Given the description of an element on the screen output the (x, y) to click on. 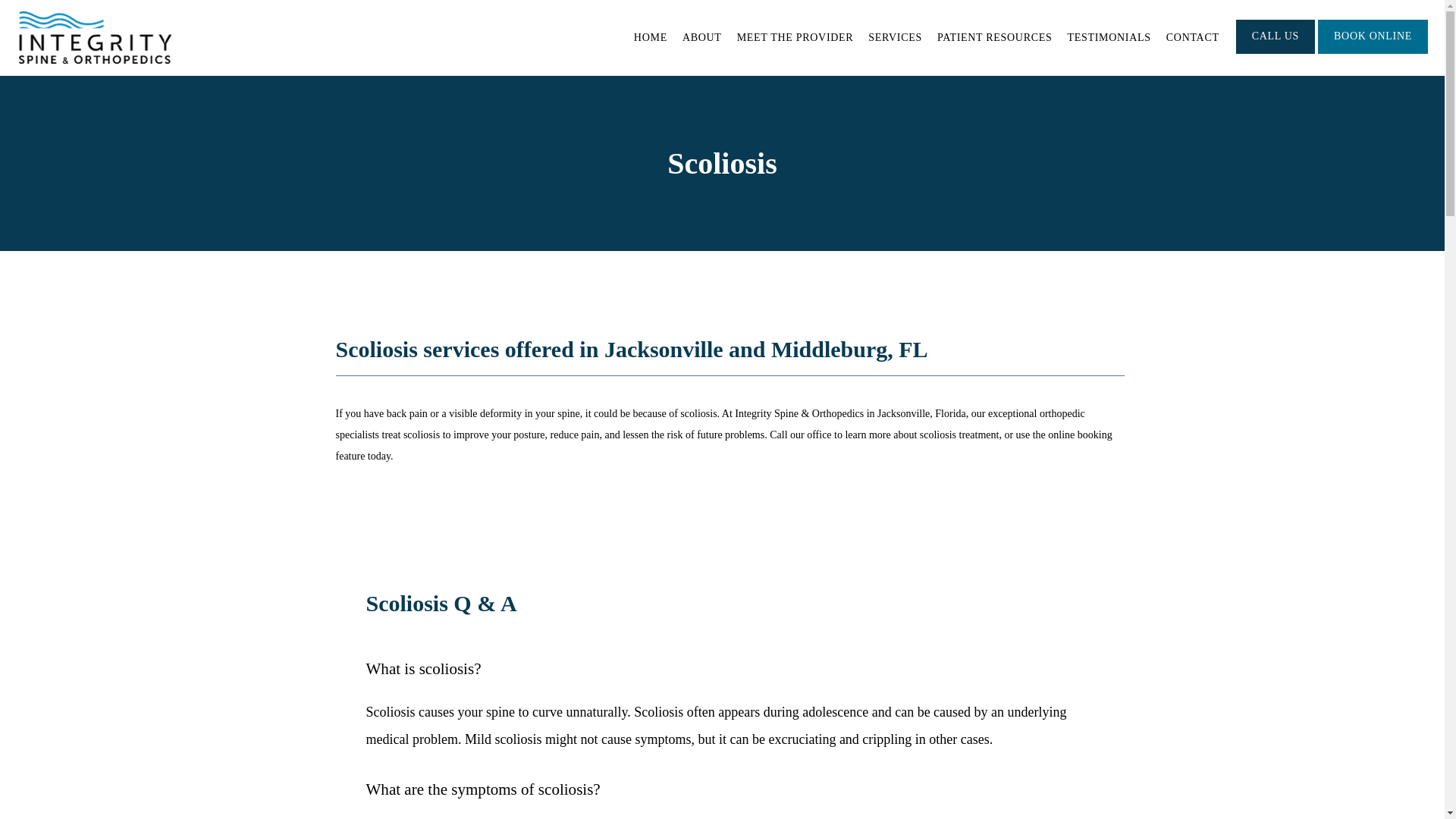
SERVICES (894, 37)
TESTIMONIALS (1109, 37)
MEET THE PROVIDER (794, 37)
HOME (649, 37)
CONTACT (1193, 37)
BOOK ONLINE (1372, 51)
ABOUT (702, 37)
CALL US (1275, 51)
